Given the description of an element on the screen output the (x, y) to click on. 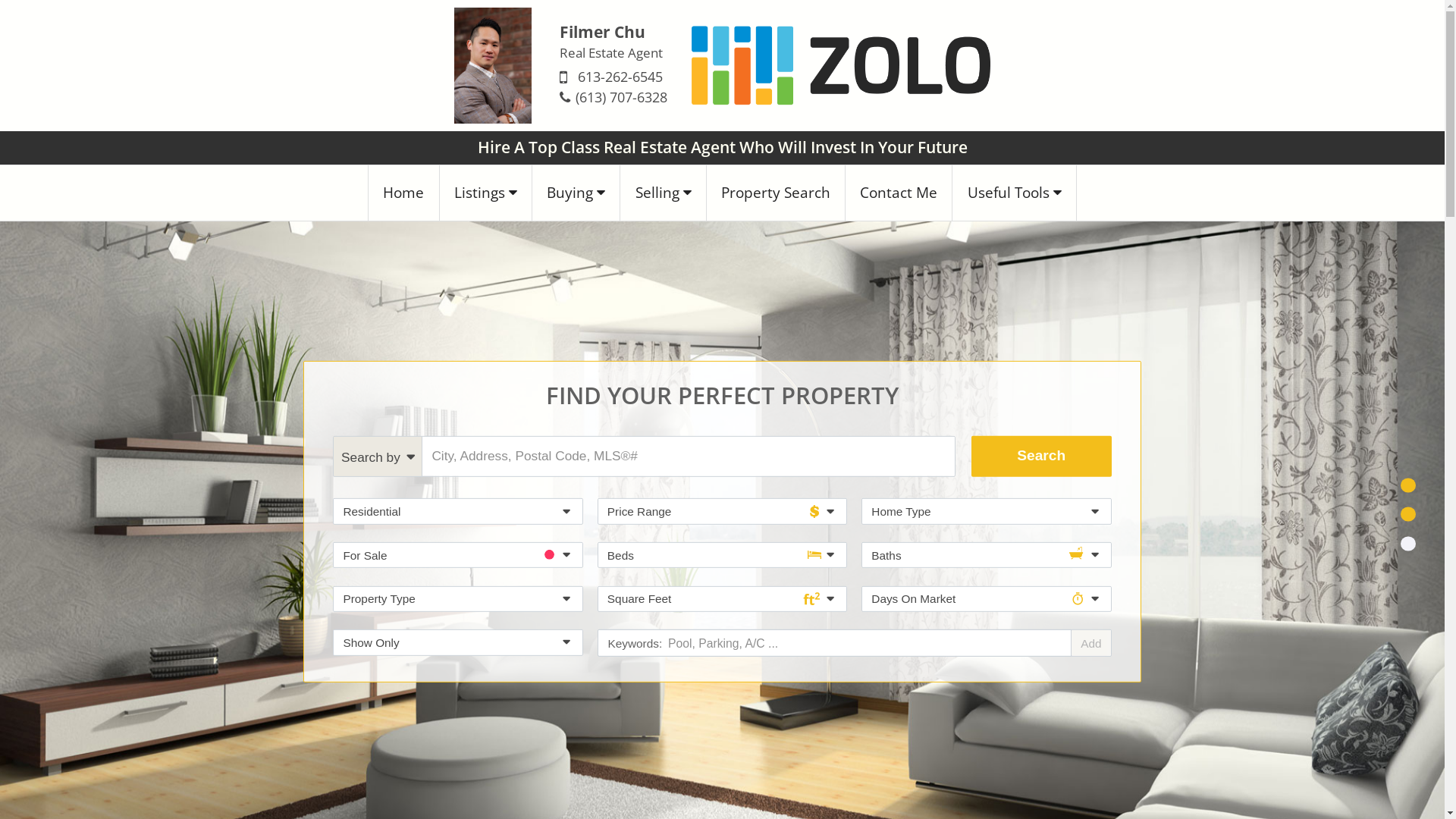
Search Element type: text (1041, 456)
Let's Begin the Search for Your Dream Home Element type: text (722, 789)
(613) 707-6328 Element type: text (621, 96)
For Sale Element type: text (457, 555)
Add Element type: text (1090, 642)
Price Range Element type: text (722, 511)
Home Element type: text (403, 192)
Useful Tools Element type: text (1014, 192)
Contact Me Element type: text (898, 192)
2 Element type: text (1407, 514)
613-262-6545 Element type: text (619, 76)
Baths Element type: text (985, 555)
Square Feet Element type: text (722, 598)
Property Type Element type: text (457, 598)
Property Search Element type: text (775, 192)
Selling Element type: text (663, 192)
Home Type Element type: text (985, 511)
Listings Element type: text (485, 192)
3 Element type: text (1407, 543)
Beds Element type: text (722, 555)
Show Only Element type: text (457, 642)
1 Element type: text (1407, 484)
Residential Element type: text (457, 511)
Buying Element type: text (576, 192)
Search by Element type: text (377, 456)
Days On Market Element type: text (985, 598)
